Given the description of an element on the screen output the (x, y) to click on. 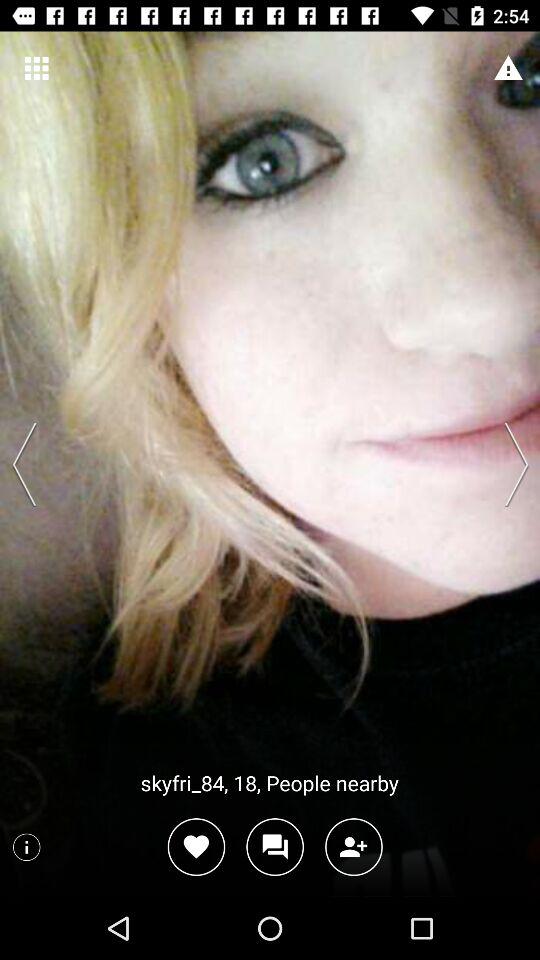
match (196, 846)
